Given the description of an element on the screen output the (x, y) to click on. 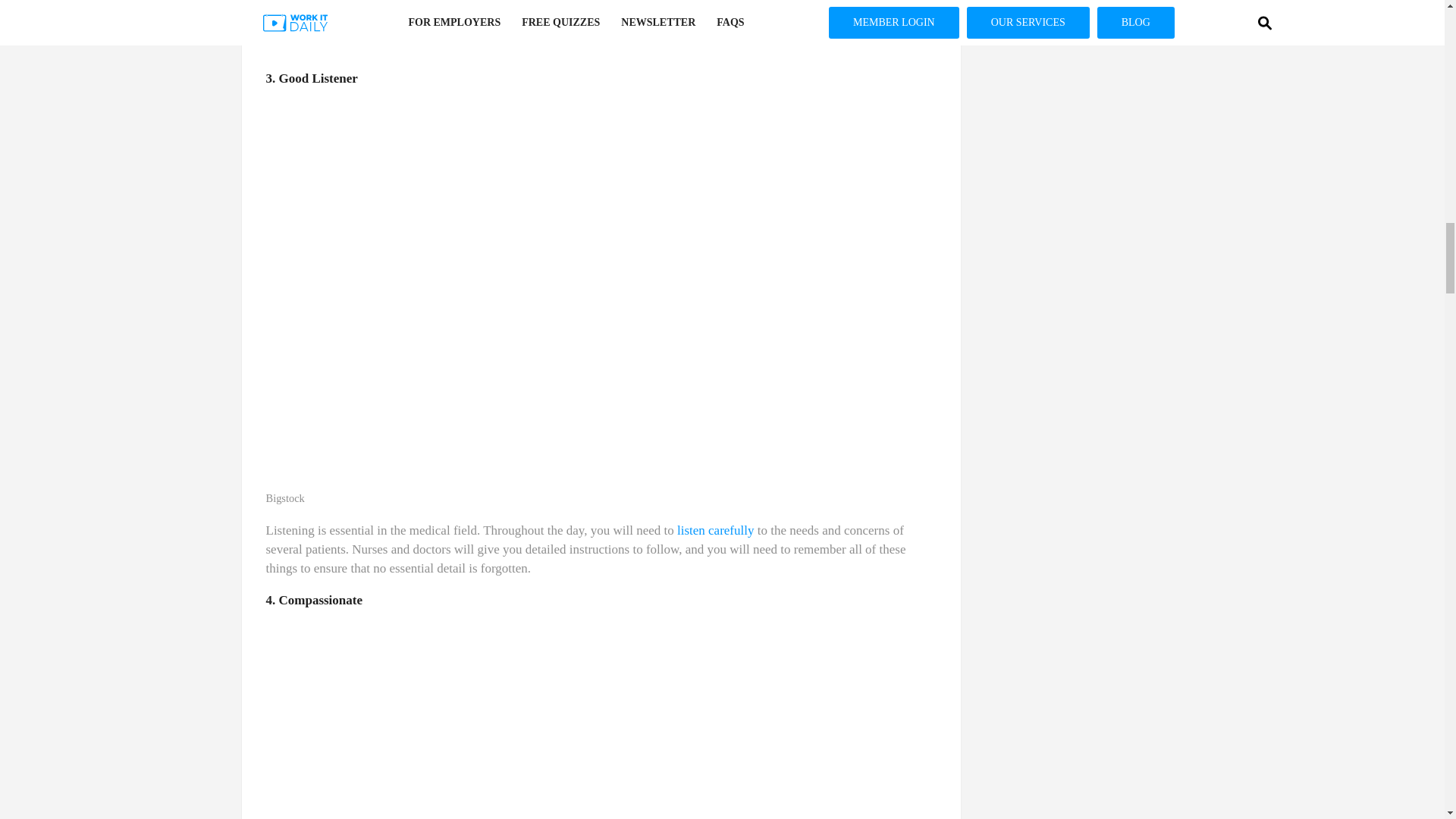
listen carefully (715, 530)
